Given the description of an element on the screen output the (x, y) to click on. 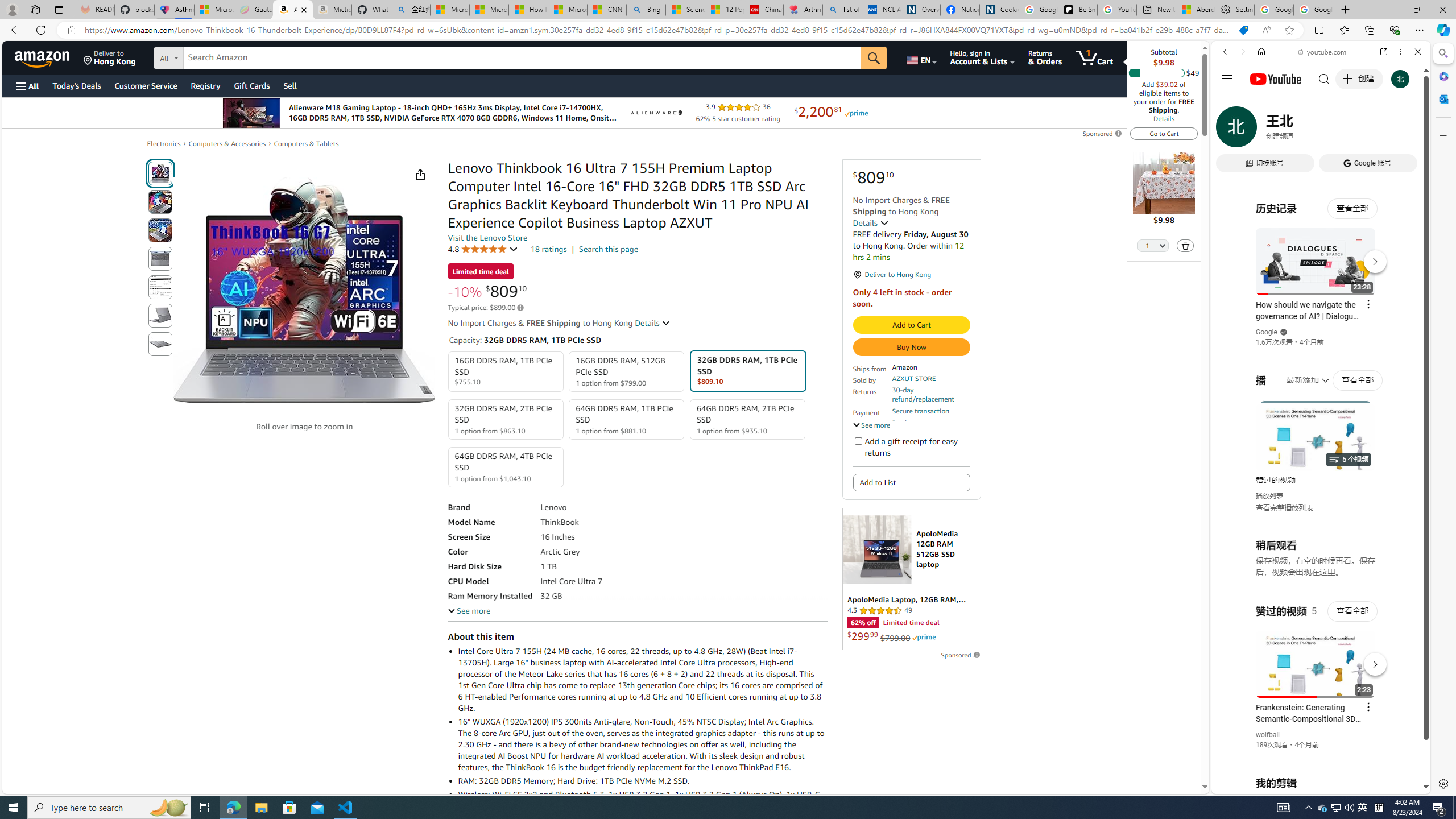
Computers & Tablets (306, 144)
16GB DDR5 RAM, 1TB PCIe SSD $755.10 (505, 371)
youtube.com (1322, 51)
Deliver to Hong Kong (109, 57)
Amazon (43, 57)
30-day refund/replacement (930, 394)
Computers & Tablets (306, 143)
You have the best price! Shopping in Microsoft Edge (1243, 29)
